Given the description of an element on the screen output the (x, y) to click on. 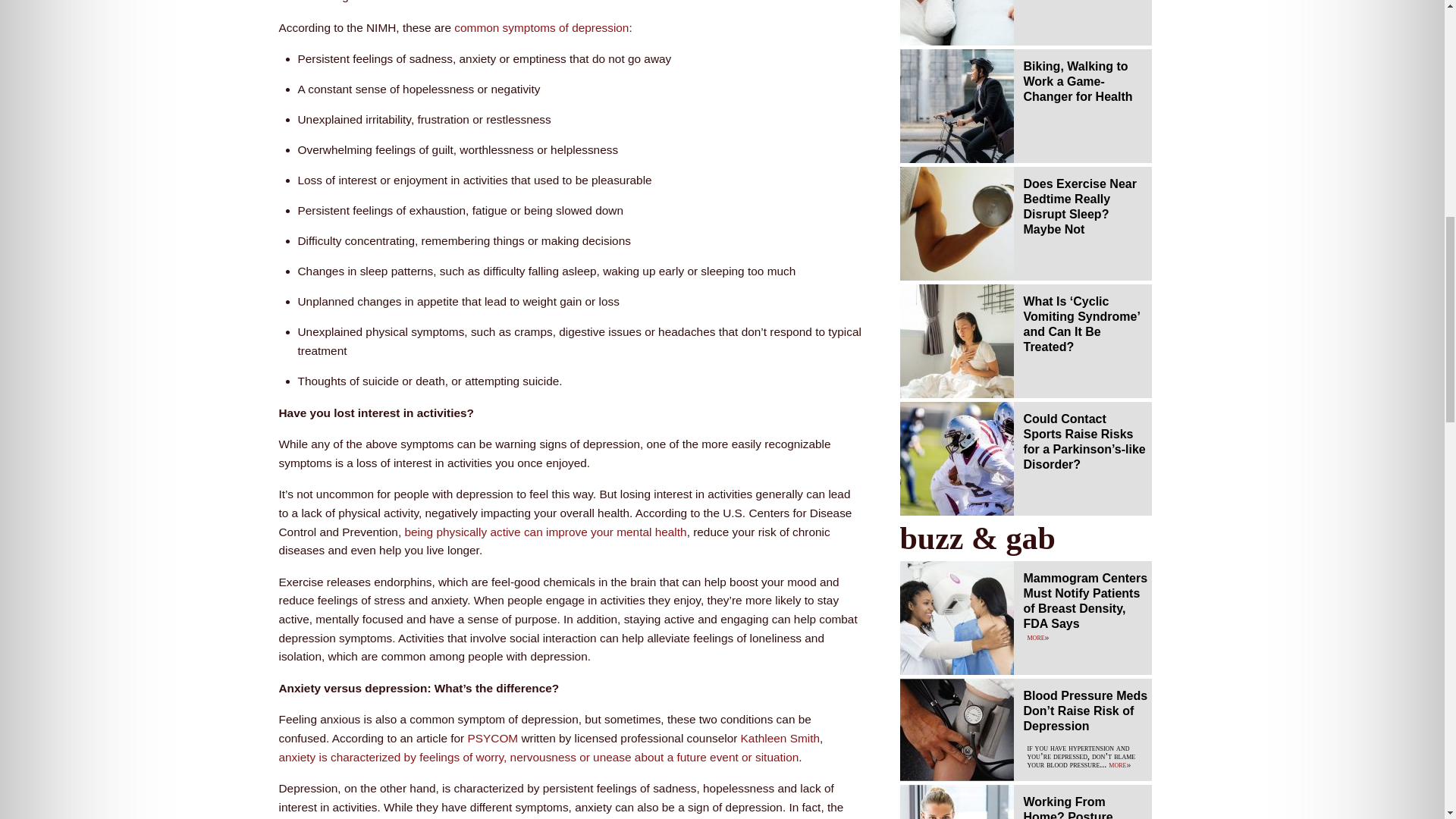
Kathleen Smith (780, 738)
common symptoms of depression (541, 27)
being physically active can improve your mental health (544, 531)
PSYCOM (492, 738)
